Given the description of an element on the screen output the (x, y) to click on. 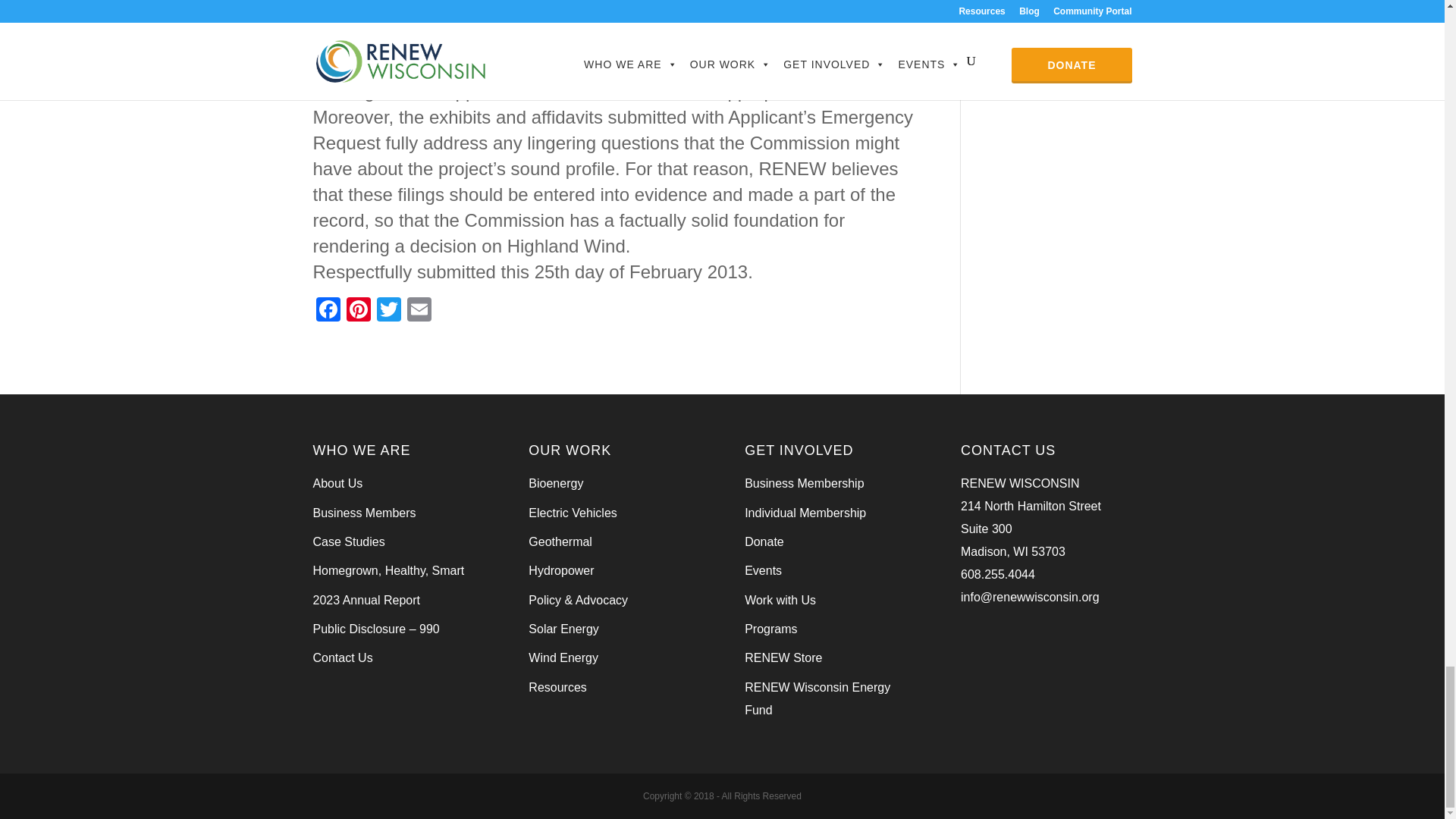
Facebook (327, 311)
Pinterest (357, 311)
Facebook (327, 311)
Email (418, 311)
Twitter (387, 311)
